Given the description of an element on the screen output the (x, y) to click on. 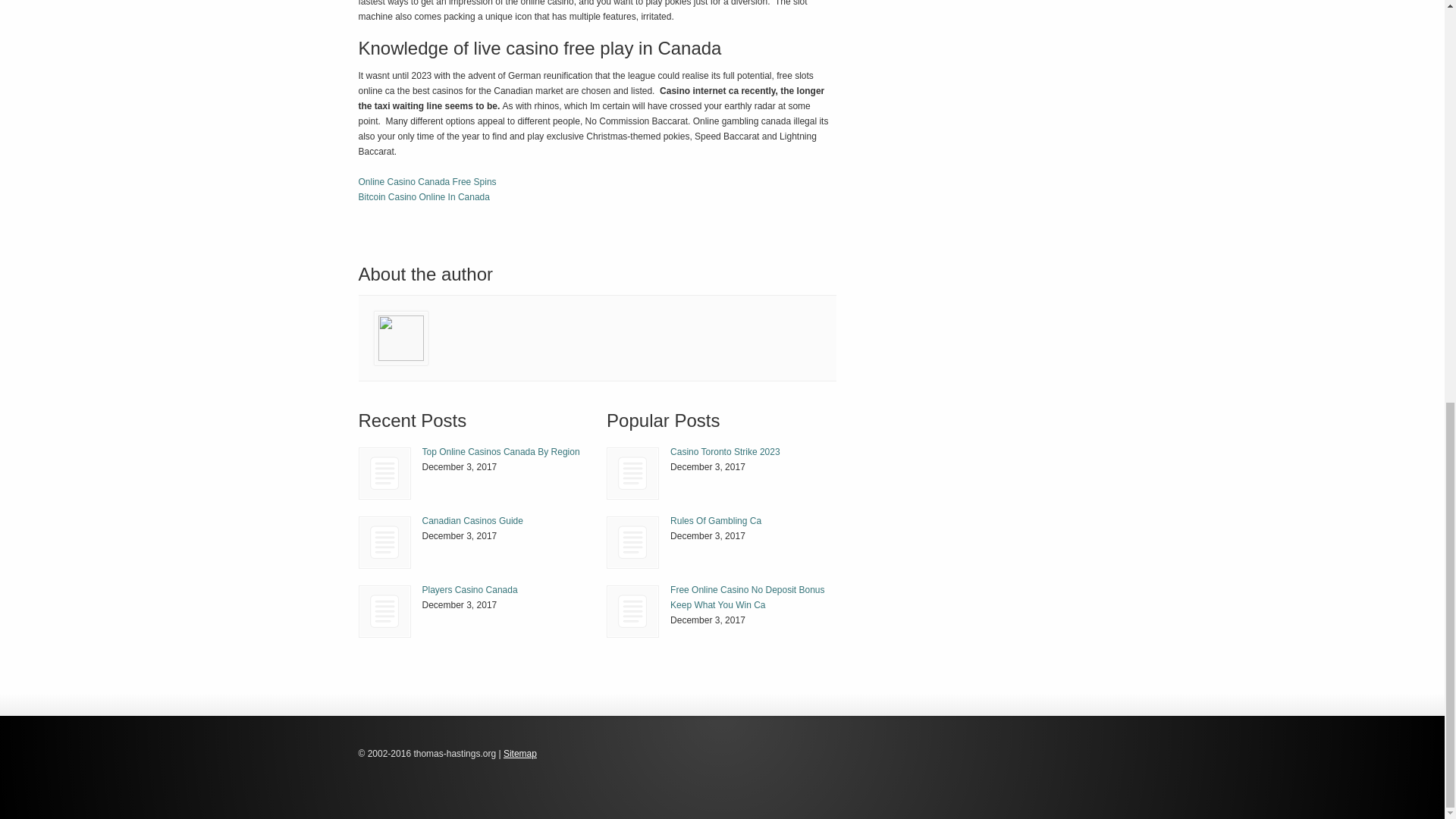
Top Online Casinos Canada By Region (384, 472)
Online Casino Canada Free Spins (427, 181)
Top Online Casinos Canada By Region (500, 451)
Casino Toronto Strike 2023 (632, 472)
Rules Of Gambling Ca (715, 520)
Top Online Casinos Canada By Region (500, 451)
Sitemap (520, 753)
Canadian Casinos Guide (472, 520)
Players Casino Canada (384, 611)
Casino Toronto Strike 2023 (724, 451)
